Given the description of an element on the screen output the (x, y) to click on. 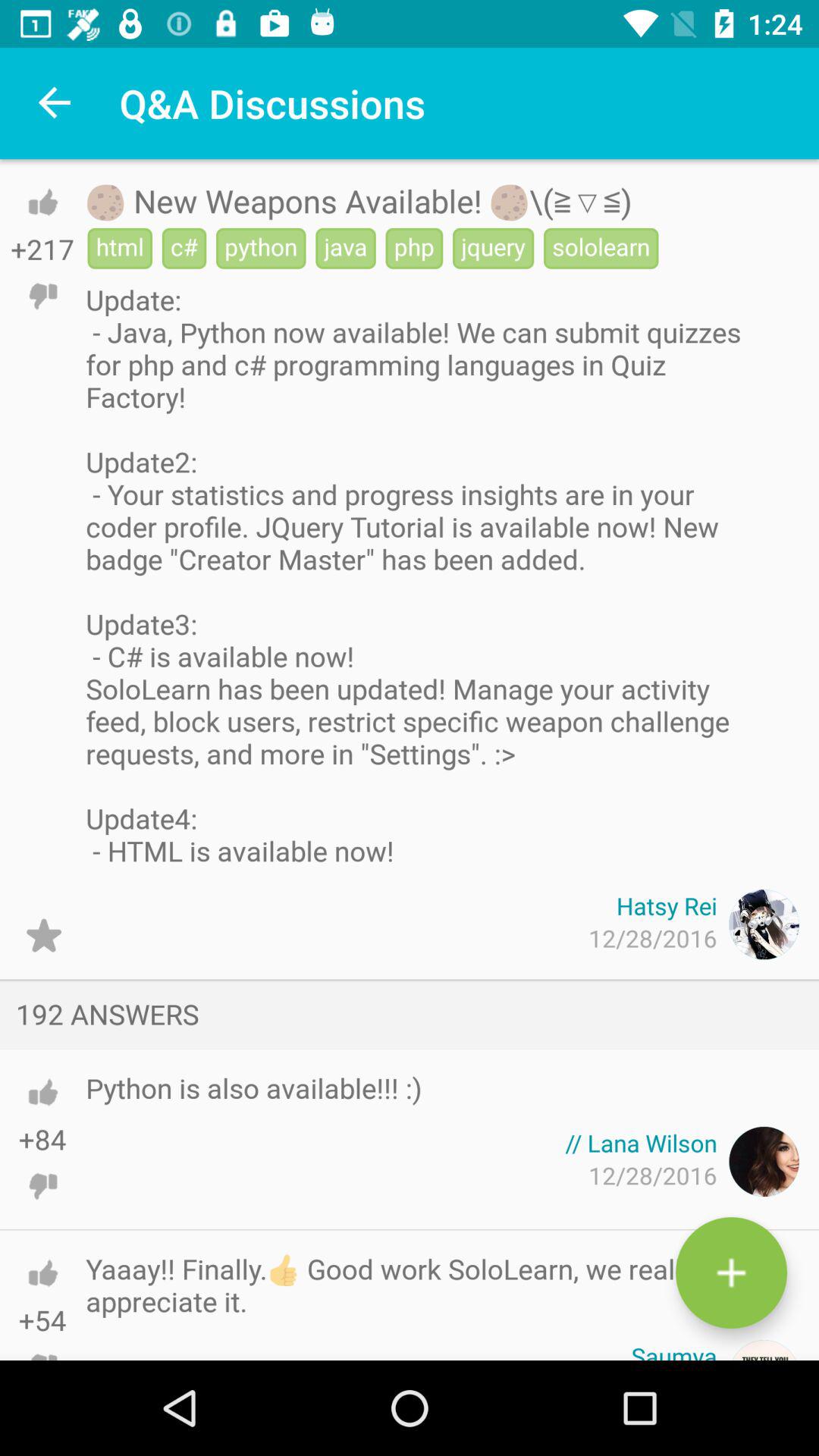
dislike (42, 1342)
